Given the description of an element on the screen output the (x, y) to click on. 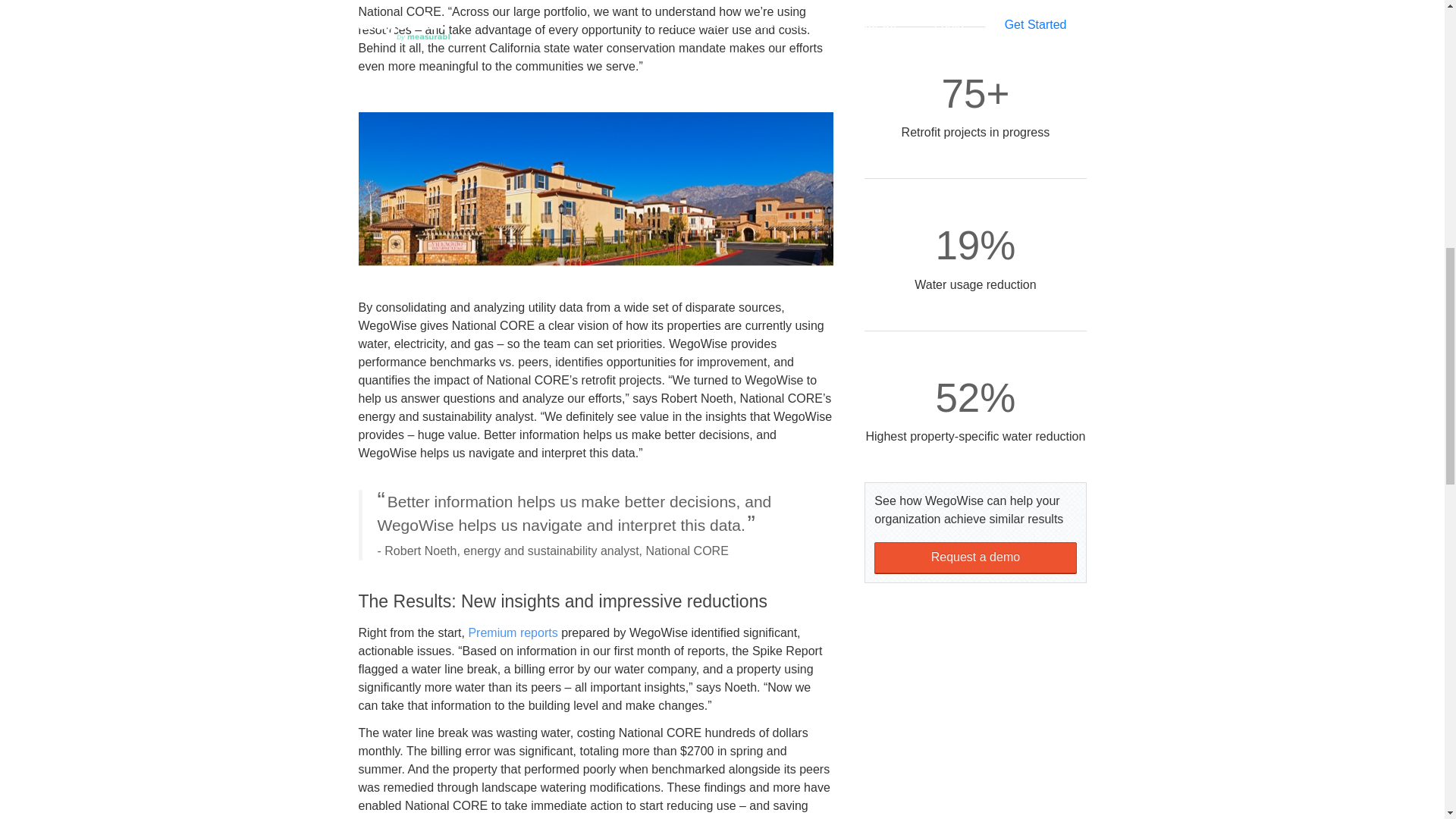
Premium reports (512, 632)
Request a demo (975, 557)
